Given the description of an element on the screen output the (x, y) to click on. 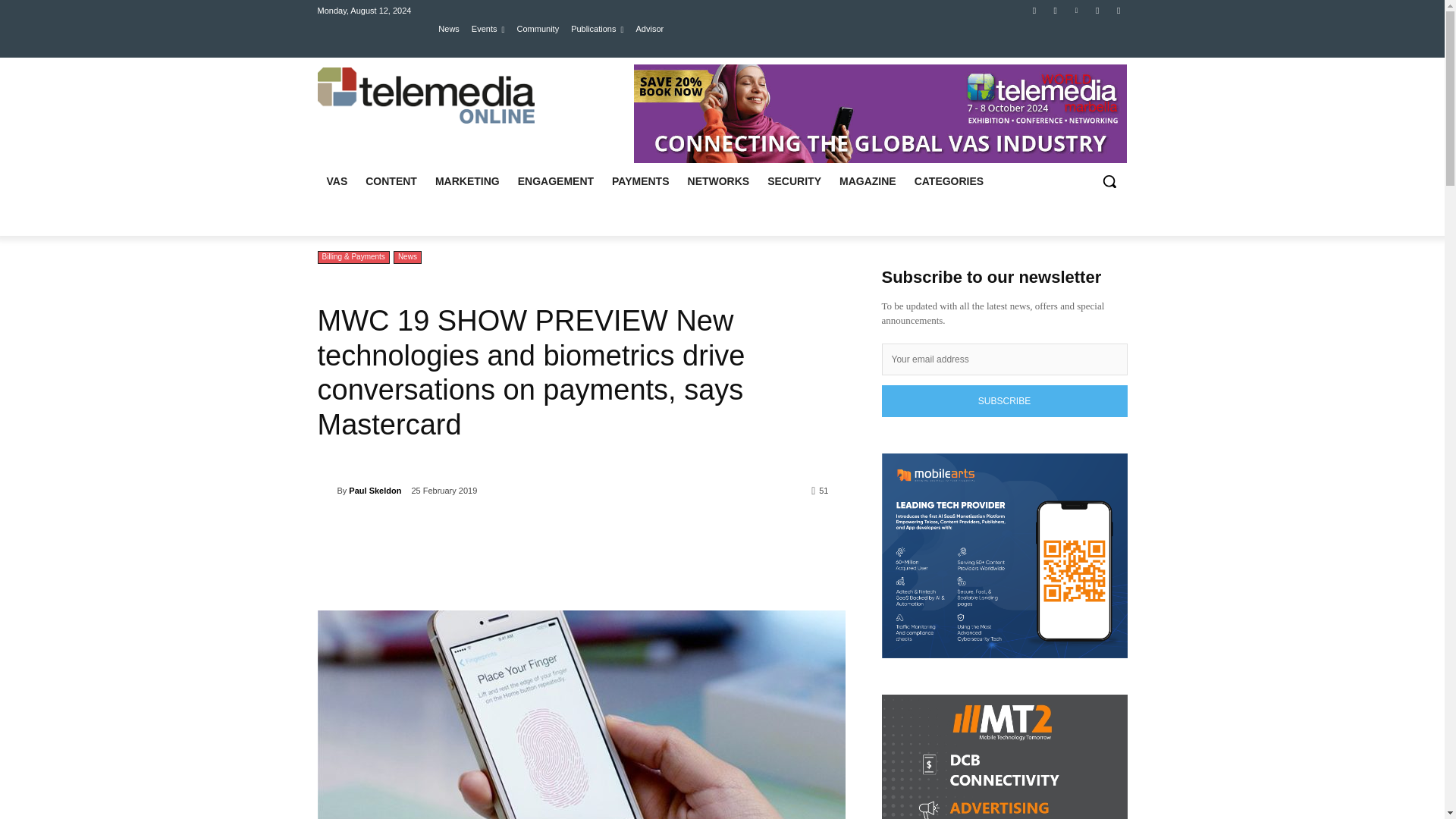
Youtube (1097, 9)
Rss (1117, 9)
Facebook (1034, 9)
WT24ConnectingVAS1100x220 (879, 113)
Telemedia Online Magazine Logo (425, 95)
Linkedin (1075, 9)
Twitter (1055, 9)
